Given the description of an element on the screen output the (x, y) to click on. 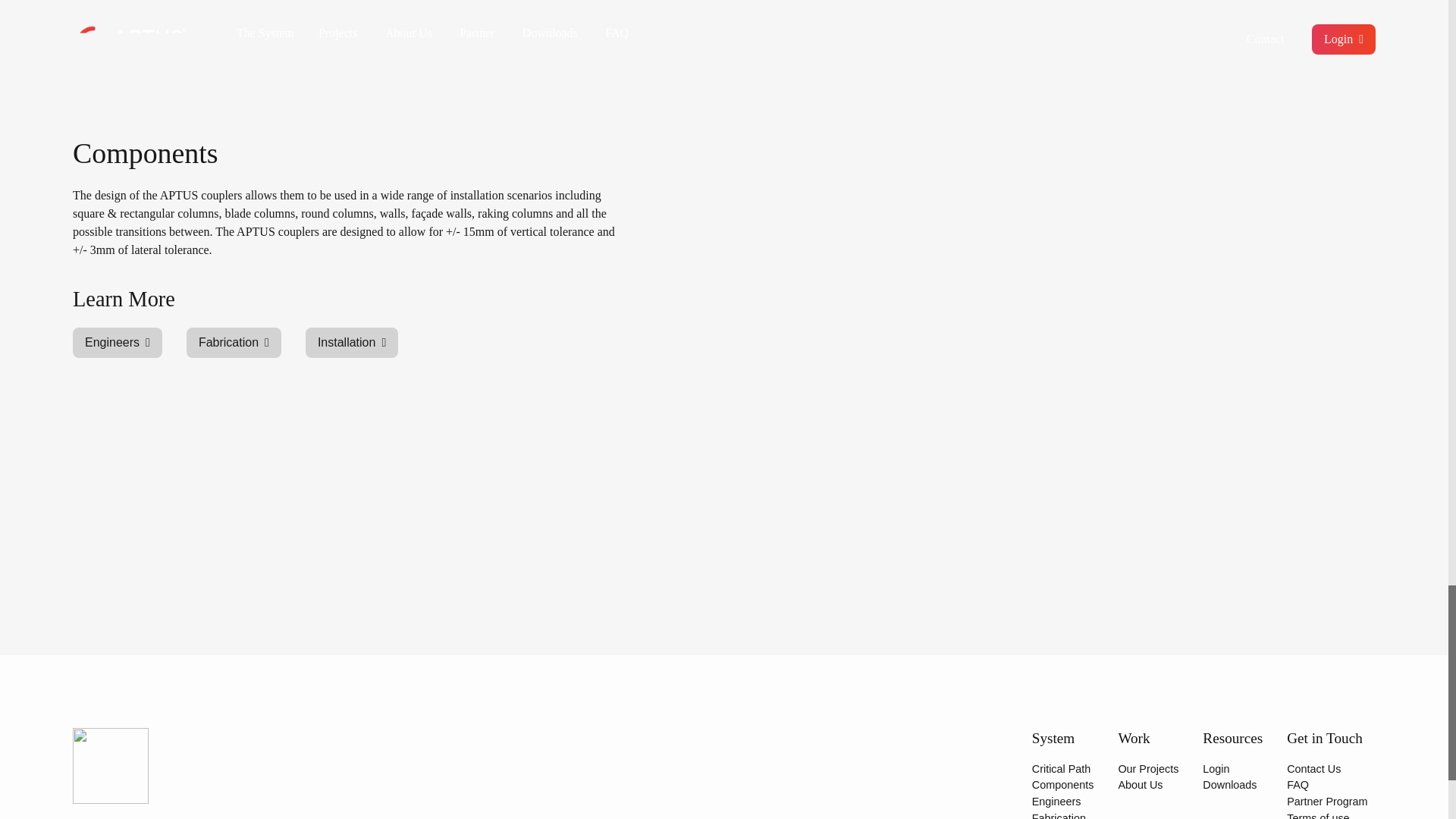
About Us (1139, 784)
Login (1215, 768)
FAQ (1297, 784)
Engineers (116, 342)
Installation (351, 342)
Components (1063, 784)
Terms of use (1318, 815)
Fabrication (233, 342)
Engineers (1056, 801)
Critical Path (1061, 768)
